Given the description of an element on the screen output the (x, y) to click on. 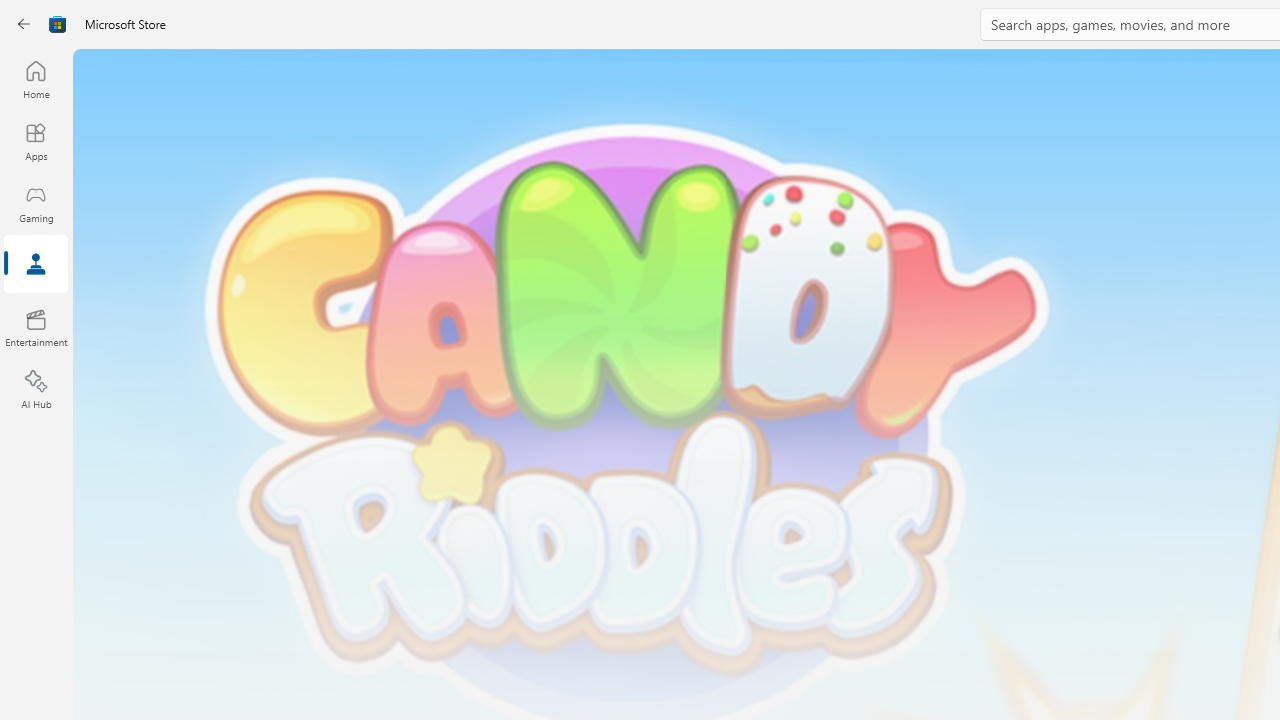
Entertainment (35, 327)
Back (24, 24)
Gaming (35, 203)
Apps (35, 141)
Class: Image (58, 24)
AI Hub (35, 390)
Arcade (35, 265)
Home (35, 79)
